Given the description of an element on the screen output the (x, y) to click on. 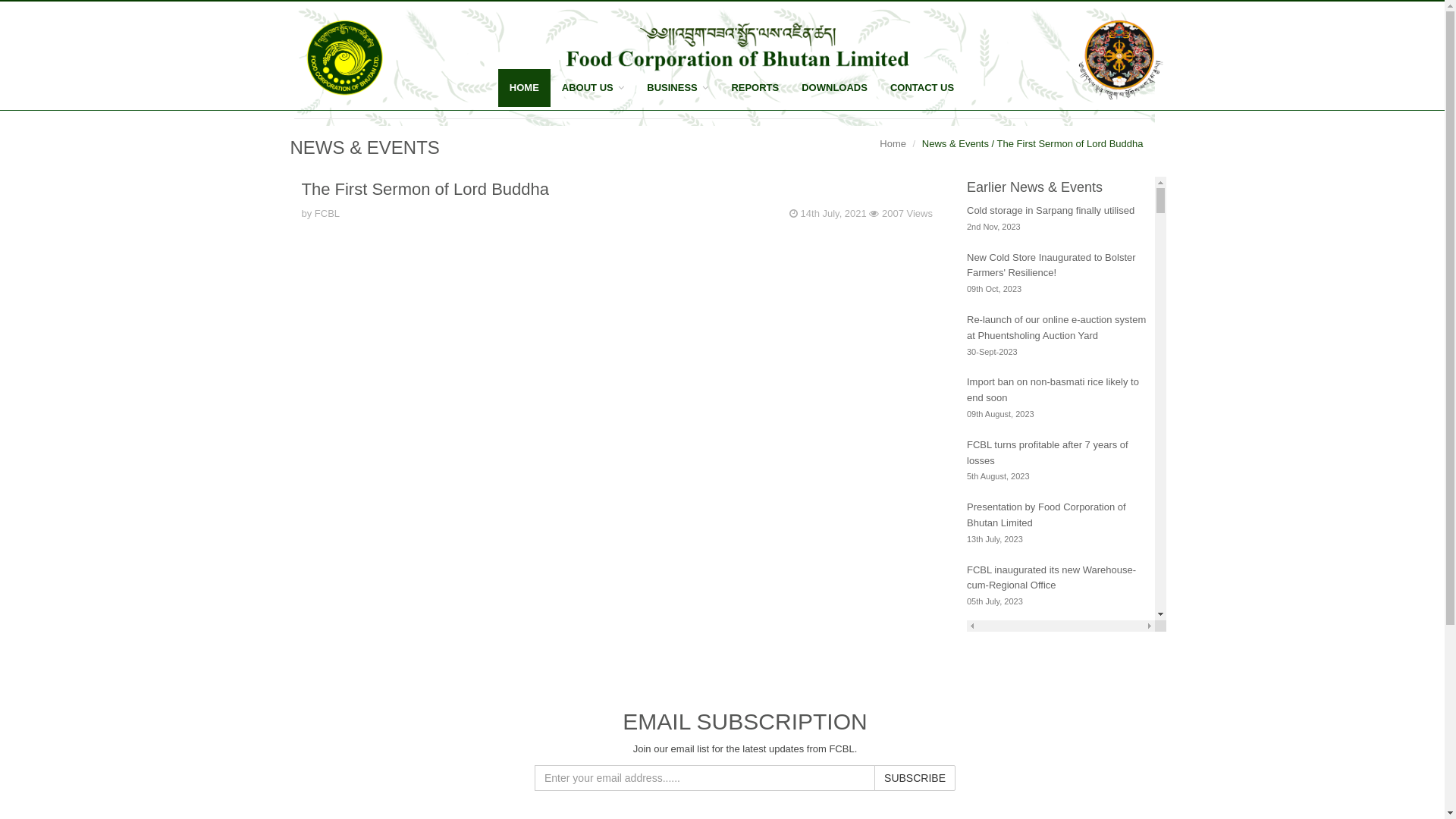
CONTACT US Element type: text (921, 87)
New Cold Store Inaugurated to Bolster Farmers' Resilience! Element type: text (1050, 265)
27th April, 2023 Element type: text (995, 725)
Home Element type: text (892, 143)
09th August, 2023 Element type: text (1000, 413)
SUBSCRIBE Element type: text (914, 777)
Presentation by Food Corporation of Bhutan Limited Element type: text (1046, 514)
The First Sermon of Lord Buddha Element type: text (425, 188)
FCBL inaugurated its new Warehouse-cum-Regional Office Element type: text (1050, 577)
FCBL turns profitable after 7 years of losses Element type: text (1047, 452)
17th April, 2023 Element type: text (995, 787)
FCBL completes its Statutory Audit for 2022 Element type: text (1049, 764)
REPORTS Element type: text (754, 87)
5th August, 2023 Element type: text (997, 475)
13th July, 2023 Element type: text (994, 538)
DOWNLOADS Element type: text (834, 87)
HOME Element type: text (524, 87)
ABOUT US Element type: text (593, 87)
2nd Nov, 2023 Element type: text (993, 226)
09th Oct, 2023 Element type: text (993, 288)
BUSINESS Element type: text (677, 87)
29th June, 2023 Element type: text (996, 663)
05th July, 2023 Element type: text (994, 600)
Cold storage in Sarpang finally utilised Element type: text (1050, 210)
30-Sept-2023 Element type: text (991, 351)
Import ban on non-basmati rice likely to end soon Element type: text (1052, 389)
